Given the description of an element on the screen output the (x, y) to click on. 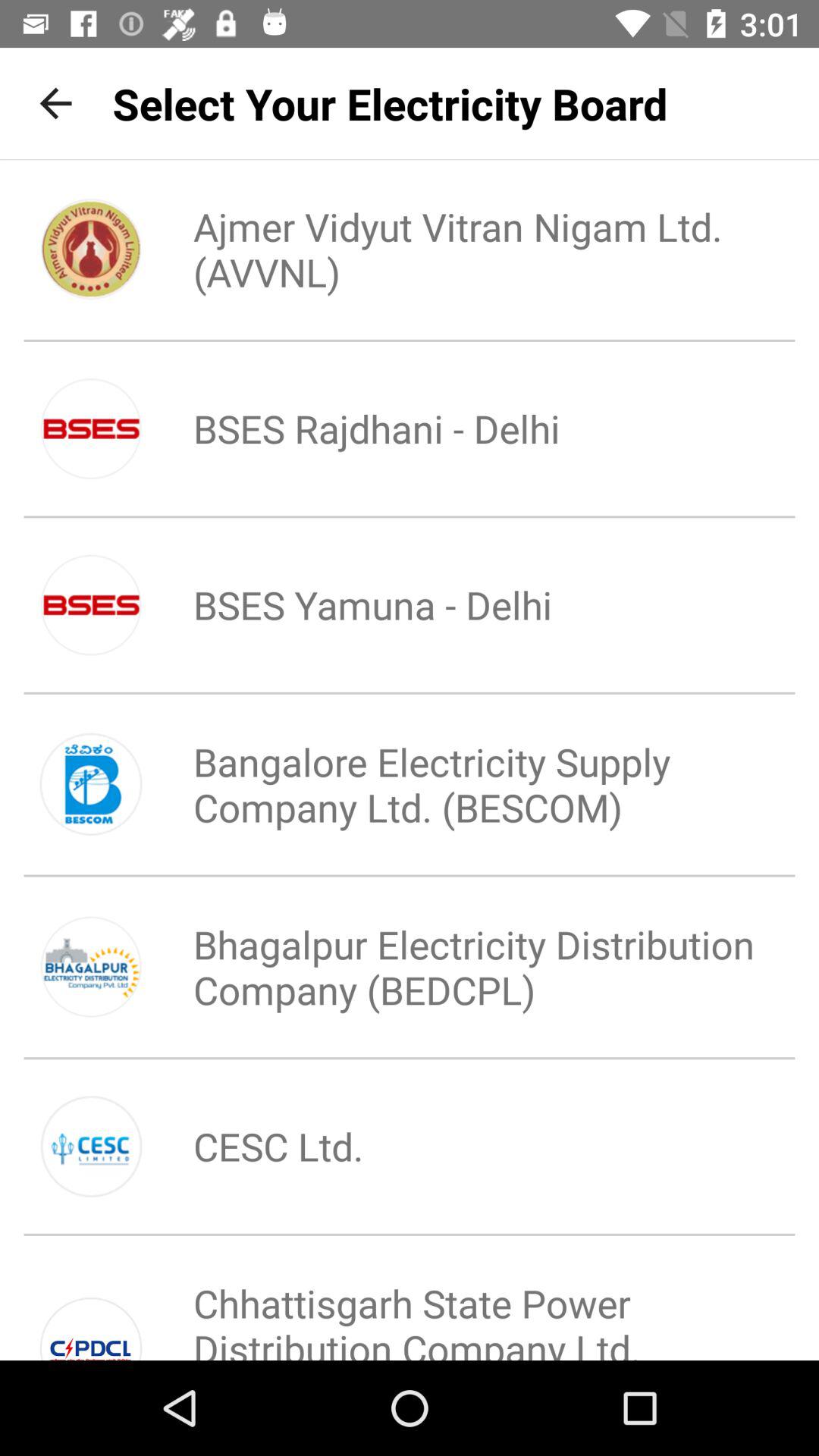
select icon below bangalore electricity supply (460, 966)
